Given the description of an element on the screen output the (x, y) to click on. 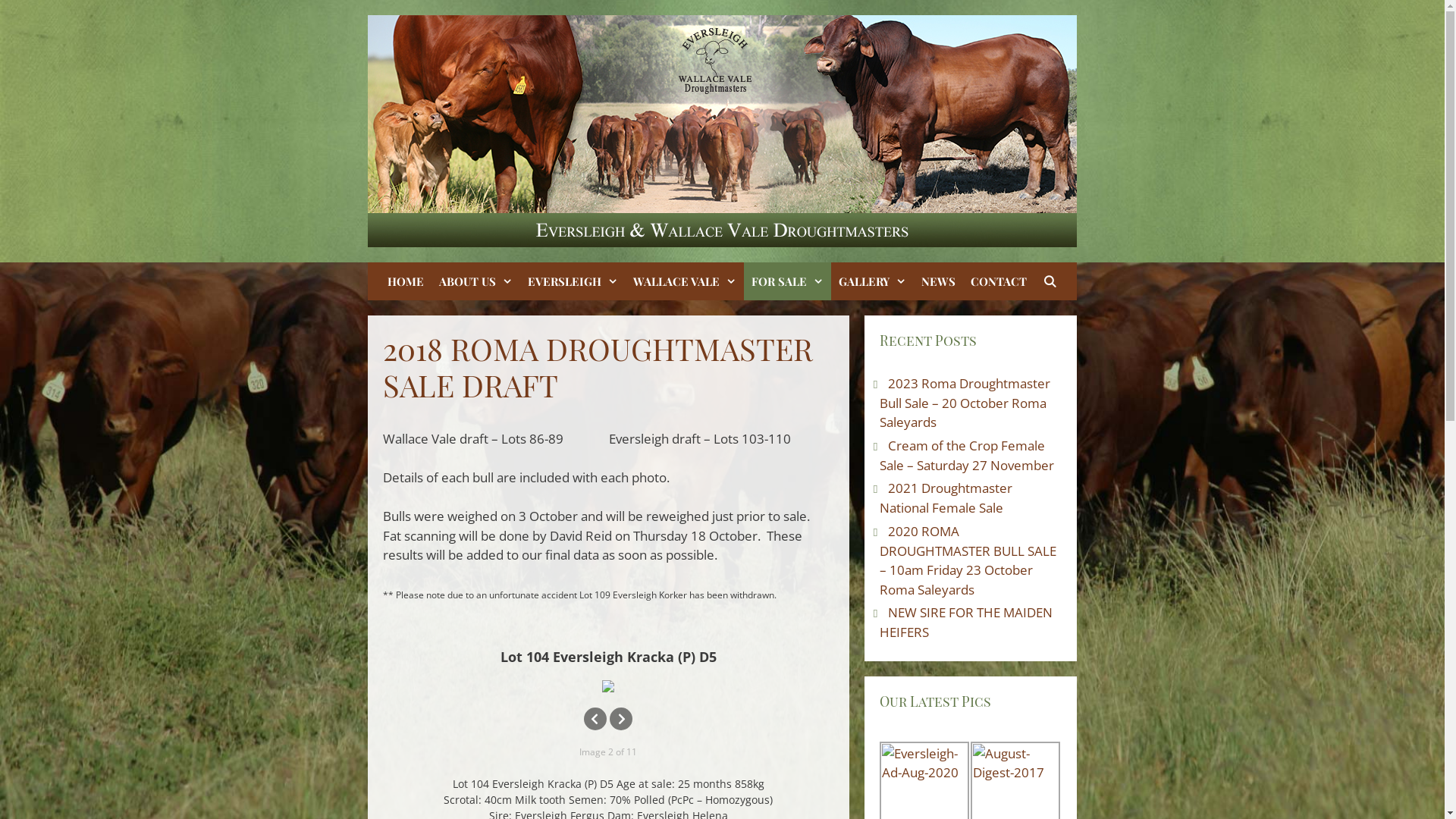
NEW SIRE FOR THE MAIDEN HEIFERS Element type: text (966, 621)
EVERSLEIGH Element type: text (572, 281)
Lot 104 Eversleigh Kracka (P) D5 Element type: hover (608, 686)
HOME Element type: text (405, 281)
CONTACT Element type: text (998, 281)
ABOUT US Element type: text (475, 281)
GALLERY Element type: text (872, 281)
2021 Droughtmaster National Female Sale Element type: text (946, 497)
NEWS Element type: text (938, 281)
FOR SALE Element type: text (787, 281)
WALLACE VALE Element type: text (684, 281)
